Given the description of an element on the screen output the (x, y) to click on. 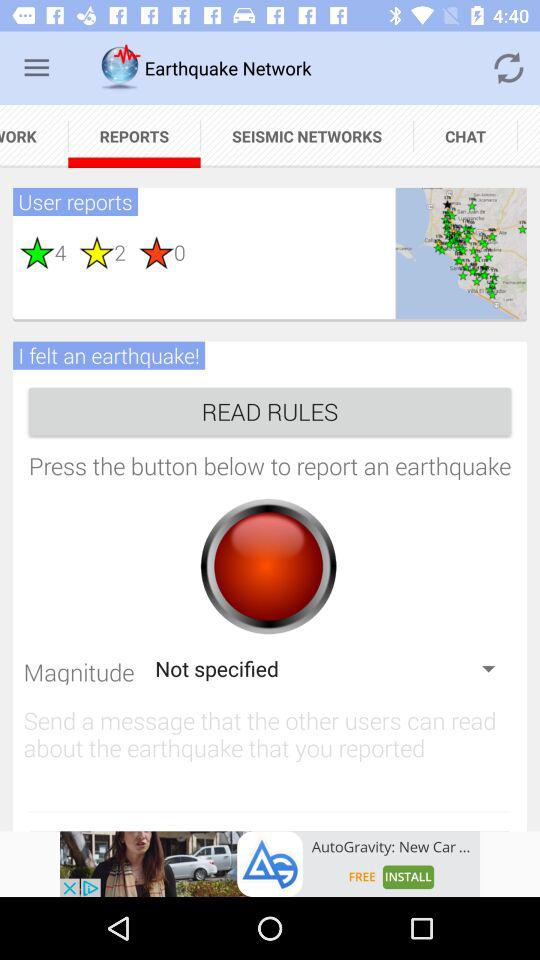
select the third star from the user reports (149, 252)
click on the second star below the user reports (89, 252)
select the image which is below the chat to the top right corner (461, 253)
